Given the description of an element on the screen output the (x, y) to click on. 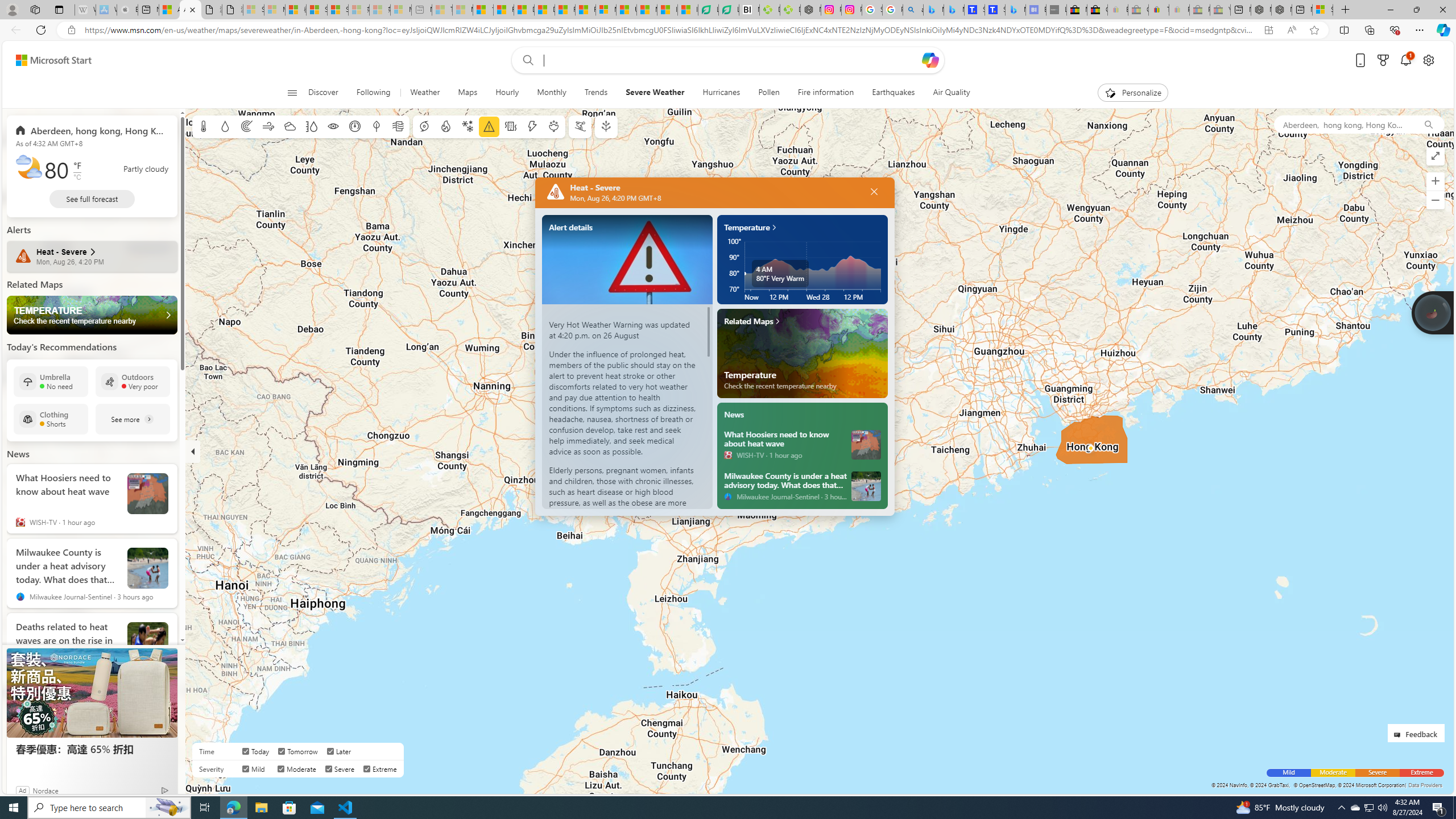
Aberdeen, hong kong, Hong Kong SAR (92, 130)
LendingTree - Compare Lenders (728, 9)
alabama high school quarterback dies - Search (913, 9)
Pollen (553, 126)
Maps (467, 92)
Microsoft account | Account Checkup - Sleeping (400, 9)
Top Stories - MSN - Sleeping (441, 9)
E-tree (605, 126)
Monthly (551, 92)
Ski conditions (579, 126)
